Given the description of an element on the screen output the (x, y) to click on. 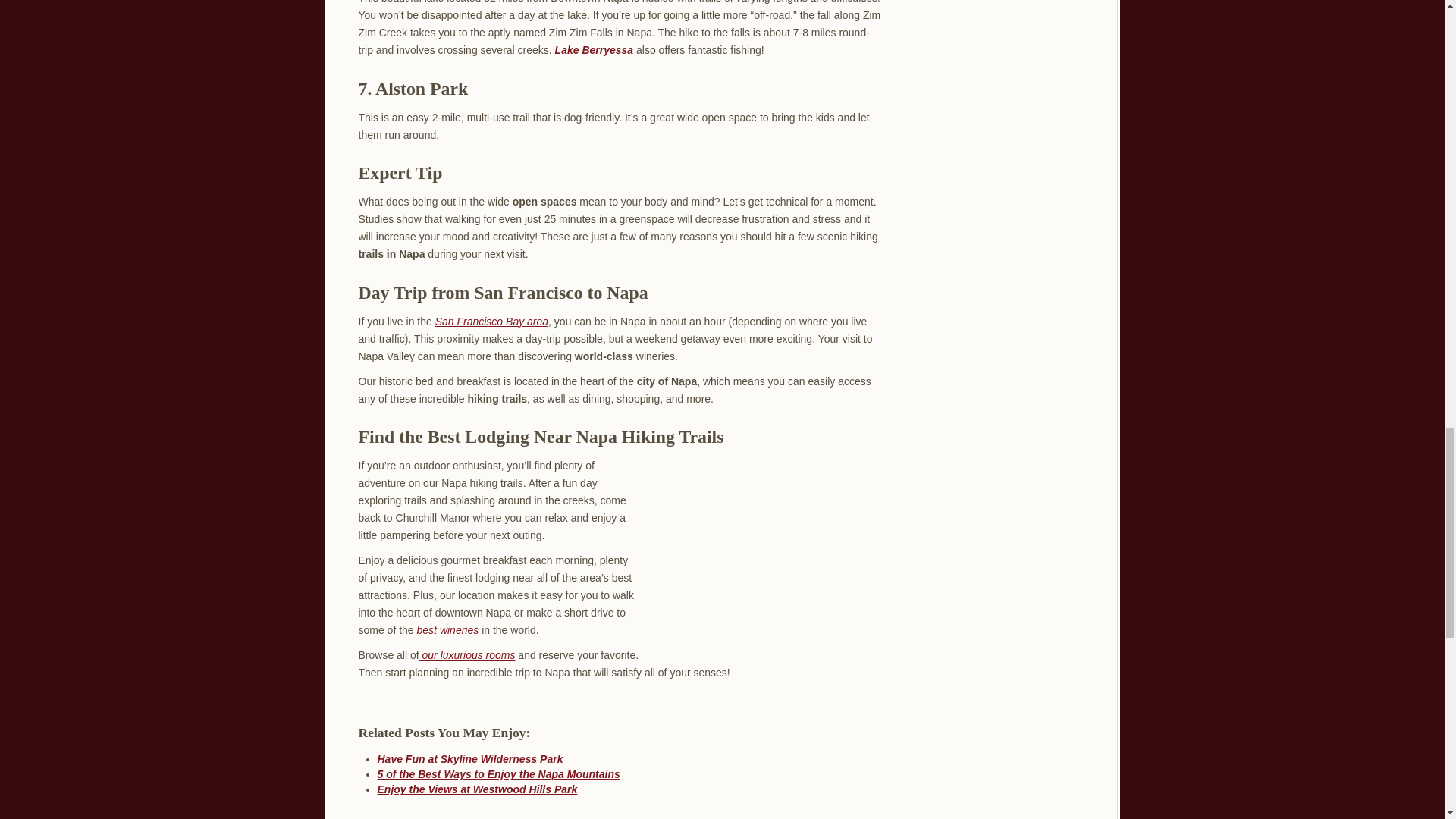
best wineries (448, 630)
5 of the Best Ways to Enjoy the Napa Mountains (498, 774)
Have Fun at Skyline Wilderness Park (470, 758)
Lake Berryessa (593, 50)
Enjoy the Views at Westwood Hills Park (477, 788)
our luxurious rooms (467, 654)
Enjoy the Views at Westwood Hills Park (477, 788)
5 of the Best Ways to Enjoy the Napa Mountains (498, 774)
Have Fun at Skyline Wilderness Park (470, 758)
San Francisco Bay area (491, 321)
